Given the description of an element on the screen output the (x, y) to click on. 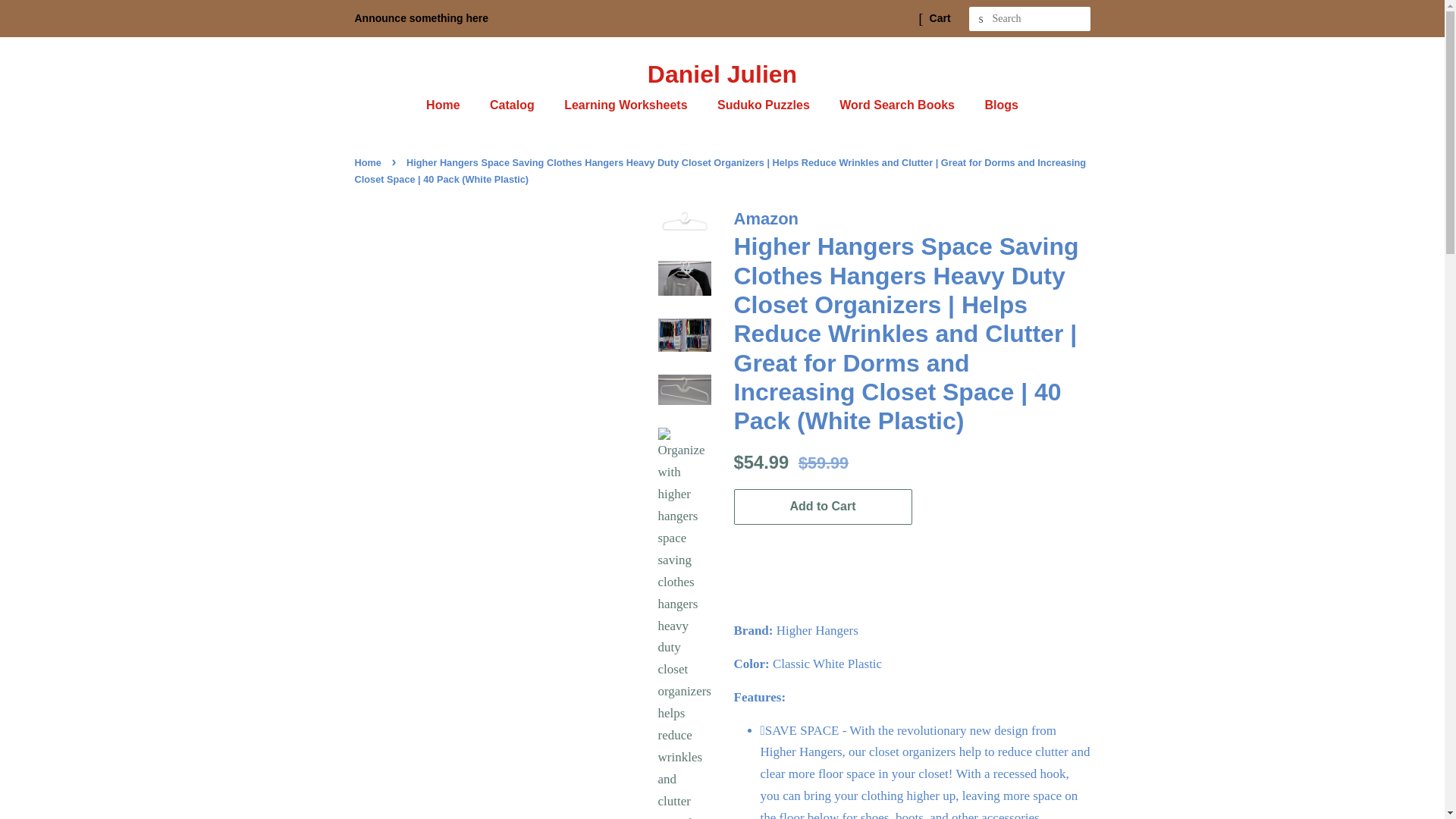
Word Search Books (898, 104)
Cart (940, 18)
Daniel Julien (722, 73)
Search (980, 18)
Blogs (994, 104)
Suduko Puzzles (765, 104)
Add to Cart (822, 506)
Home (370, 162)
Catalog (514, 104)
Home (450, 104)
Learning Worksheets (627, 104)
Back to the frontpage (370, 162)
